Given the description of an element on the screen output the (x, y) to click on. 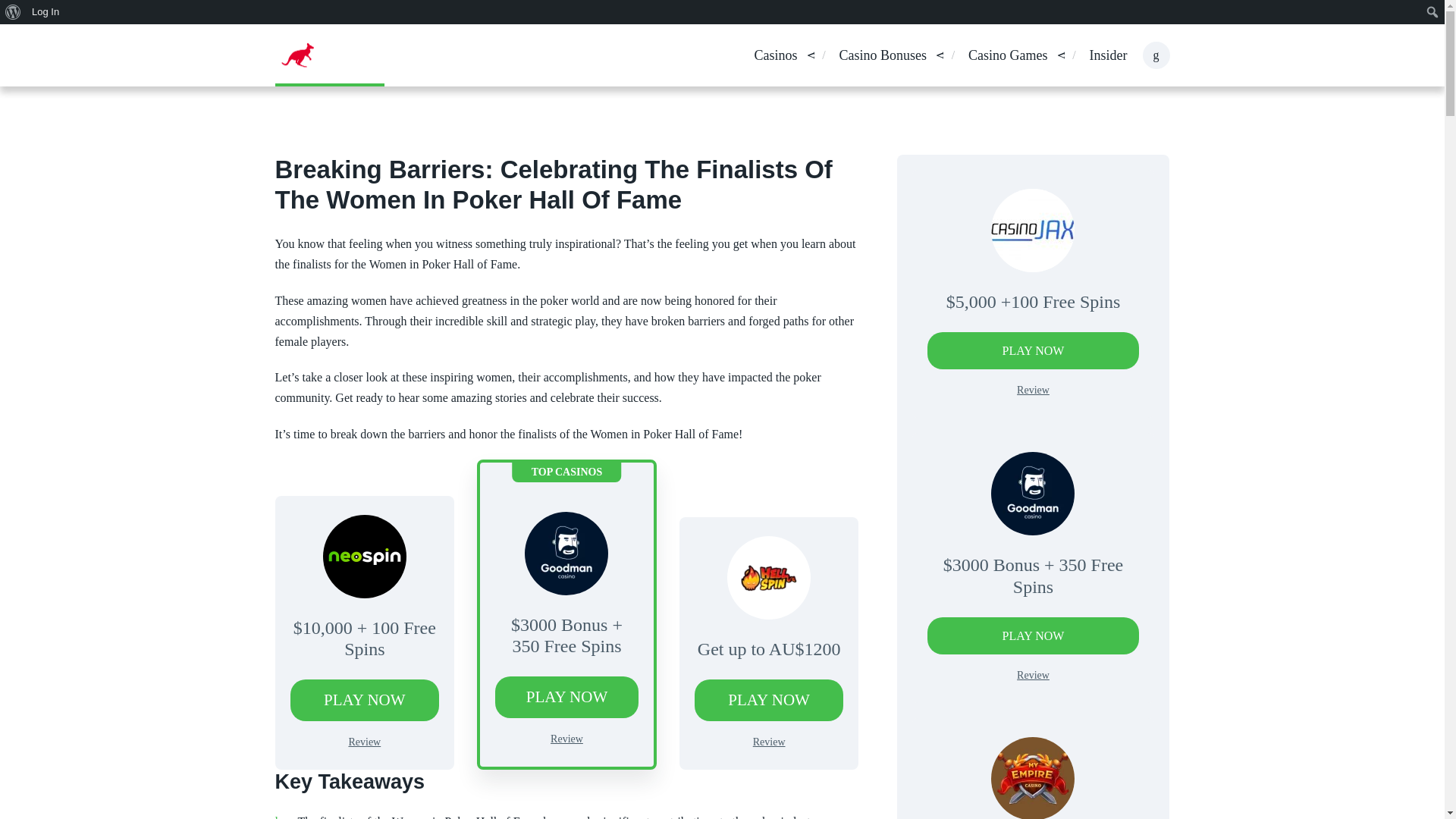
Review (566, 738)
Search (16, 13)
Log In (45, 12)
Casinos (775, 55)
Casino Bonuses (883, 55)
Casino Games (1007, 55)
PLAY NOW (364, 700)
Review (363, 741)
PLAY NOW (567, 697)
PLAY NOW (769, 700)
Insider (1107, 55)
